Given the description of an element on the screen output the (x, y) to click on. 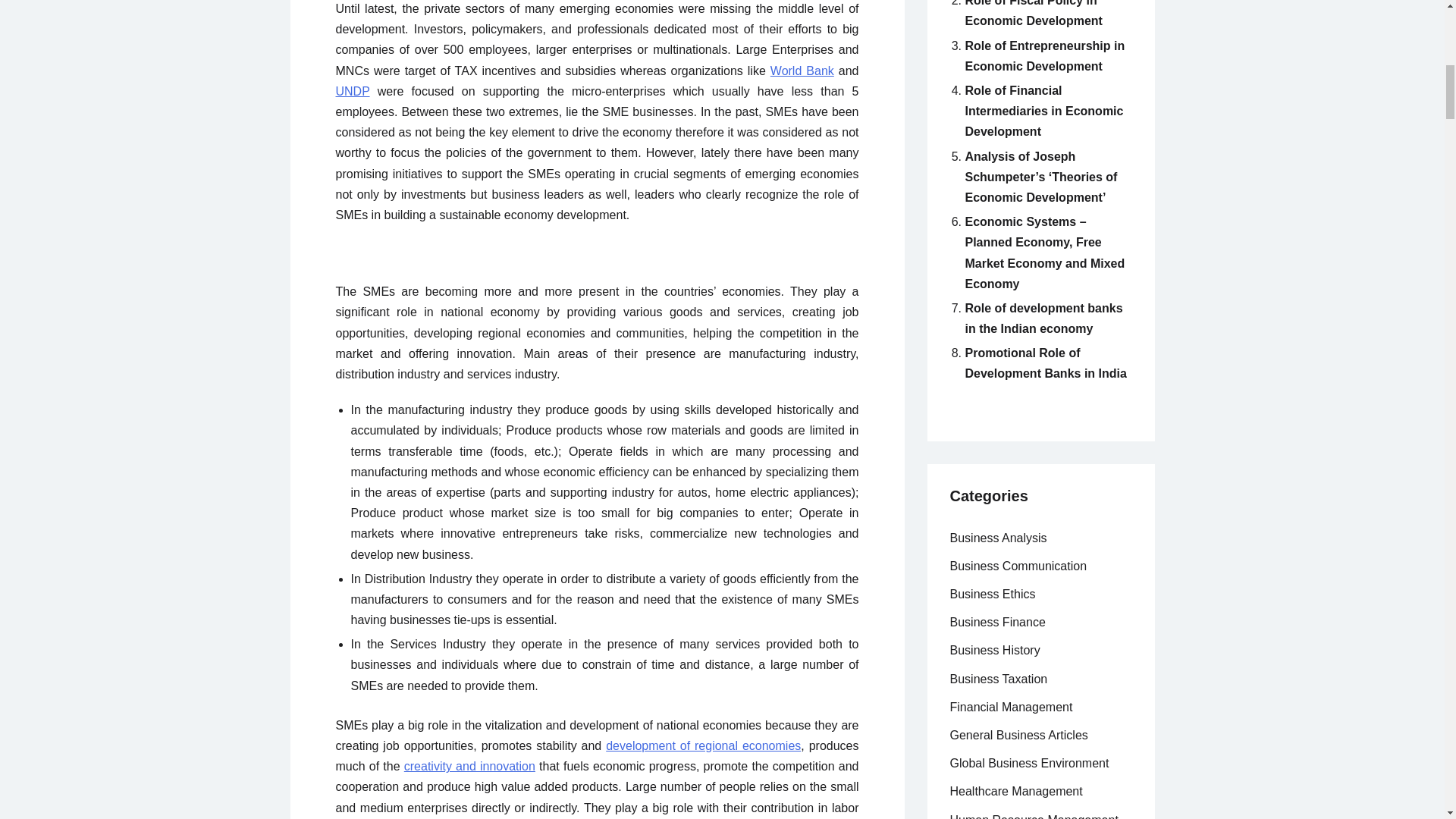
creativity and innovation (469, 766)
development of regional economies (702, 745)
World Bank (802, 70)
UNDP (351, 91)
